Given the description of an element on the screen output the (x, y) to click on. 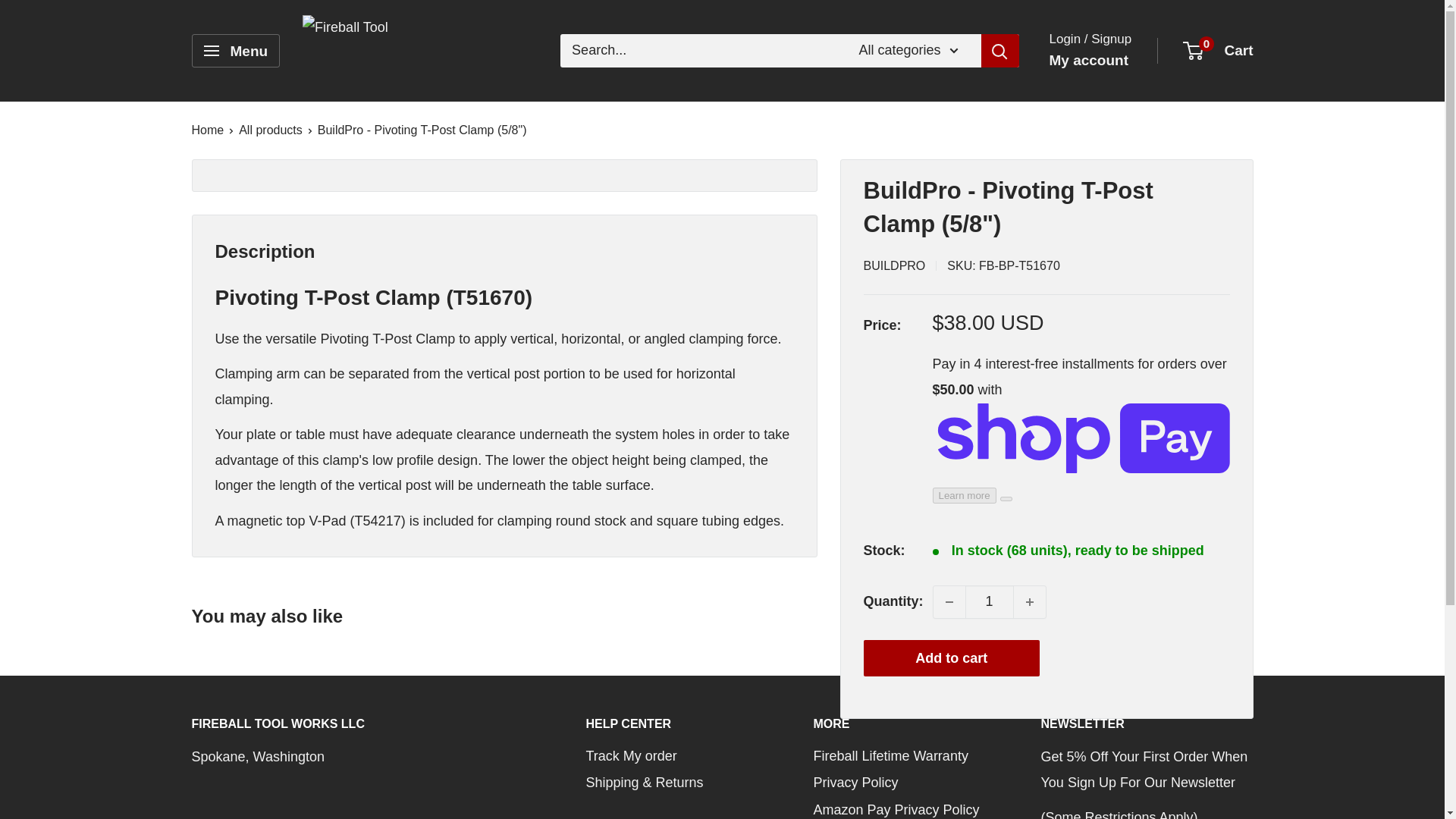
1 (988, 602)
Decrease quantity by 1 (948, 602)
Increase quantity by 1 (1029, 602)
